Given the description of an element on the screen output the (x, y) to click on. 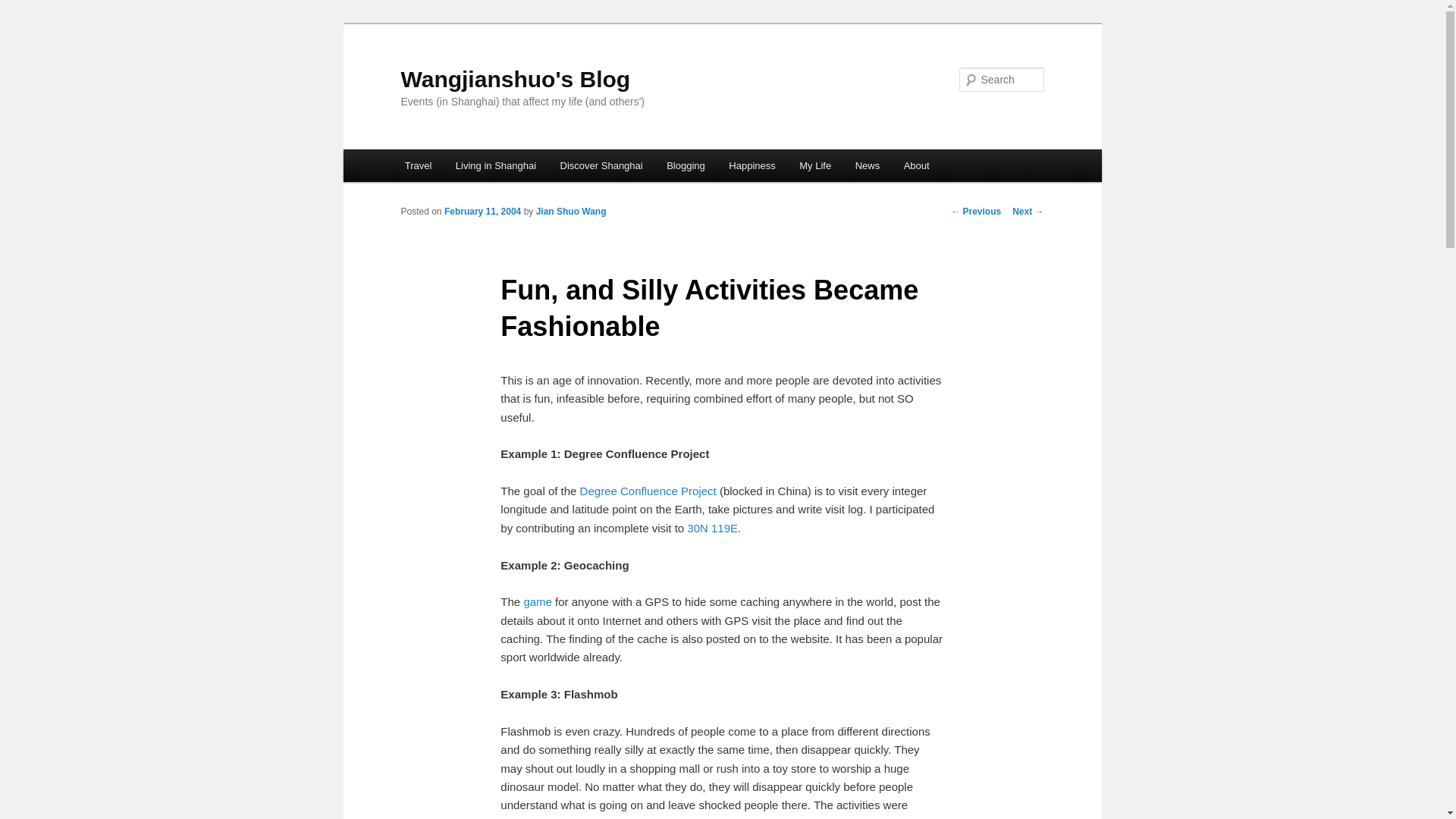
11:30 pm (482, 211)
Search (24, 8)
Travel (418, 165)
Living in Shanghai (496, 165)
View all posts by Jian Shuo Wang (571, 211)
Wangjianshuo's Blog (515, 78)
